Given the description of an element on the screen output the (x, y) to click on. 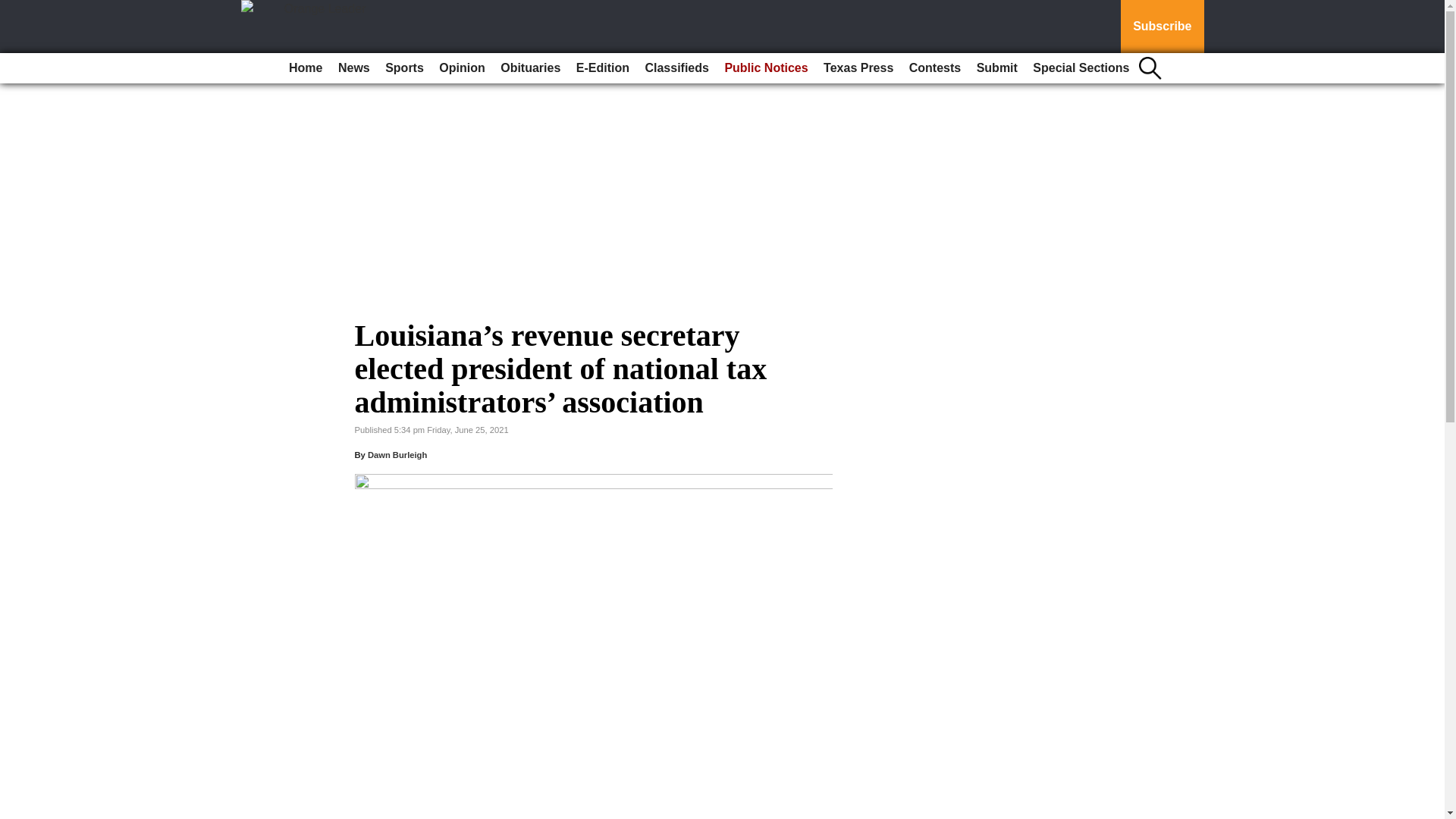
Contests (934, 68)
E-Edition (602, 68)
Public Notices (765, 68)
Obituaries (530, 68)
Go (13, 9)
Texas Press (857, 68)
Home (305, 68)
Submit (997, 68)
Special Sections (1080, 68)
Opinion (461, 68)
